Given the description of an element on the screen output the (x, y) to click on. 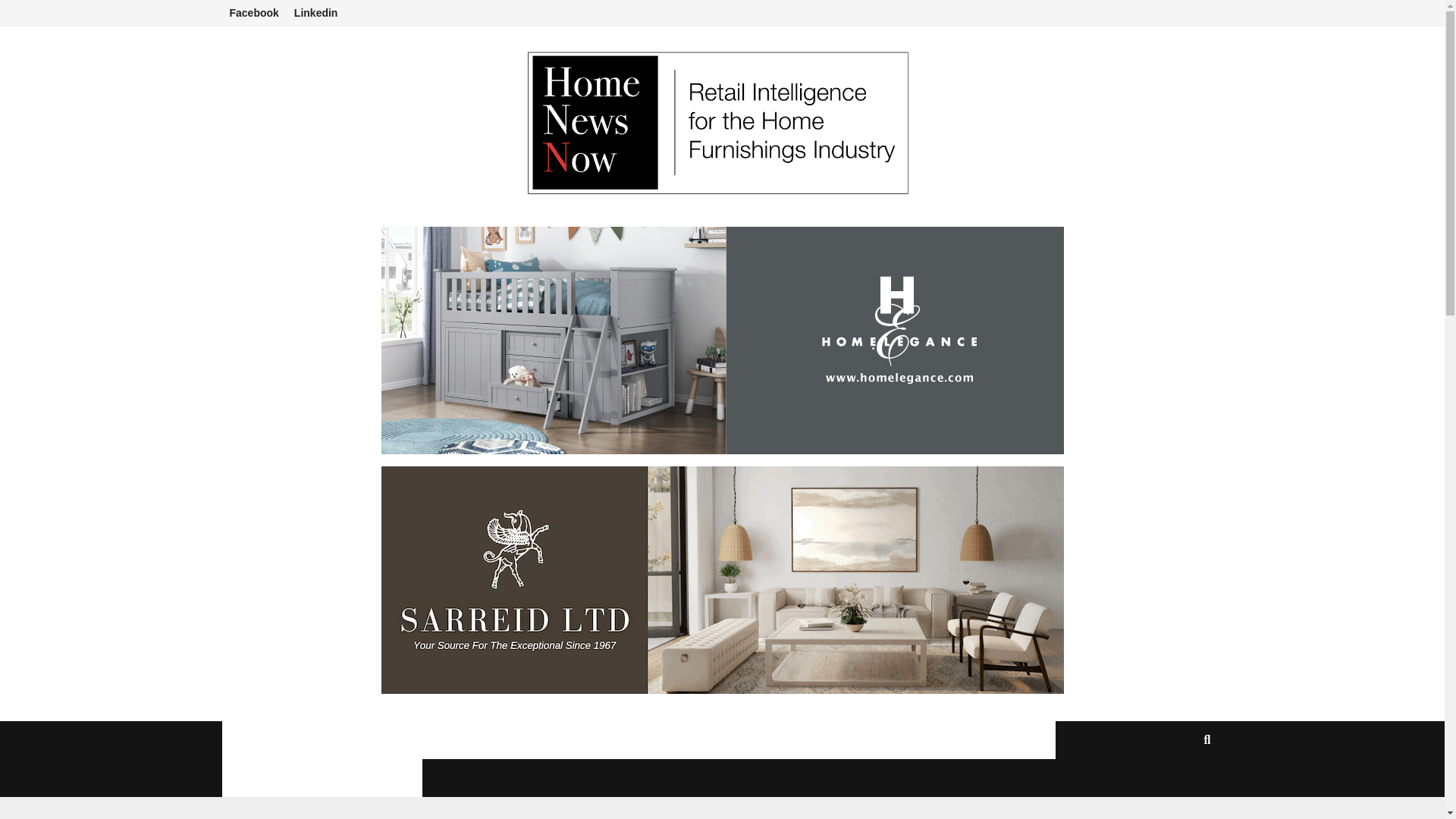
ABOUT US (522, 740)
ADVERTISE (765, 740)
DECOR NEWS NOW (888, 740)
SUBSCRIBE (1006, 740)
LATEST NEWS (336, 740)
HOME (251, 740)
Linkedin (316, 13)
Facebook (253, 13)
CASUAL NEWS NOW (639, 740)
HNN 125 (436, 740)
